Given the description of an element on the screen output the (x, y) to click on. 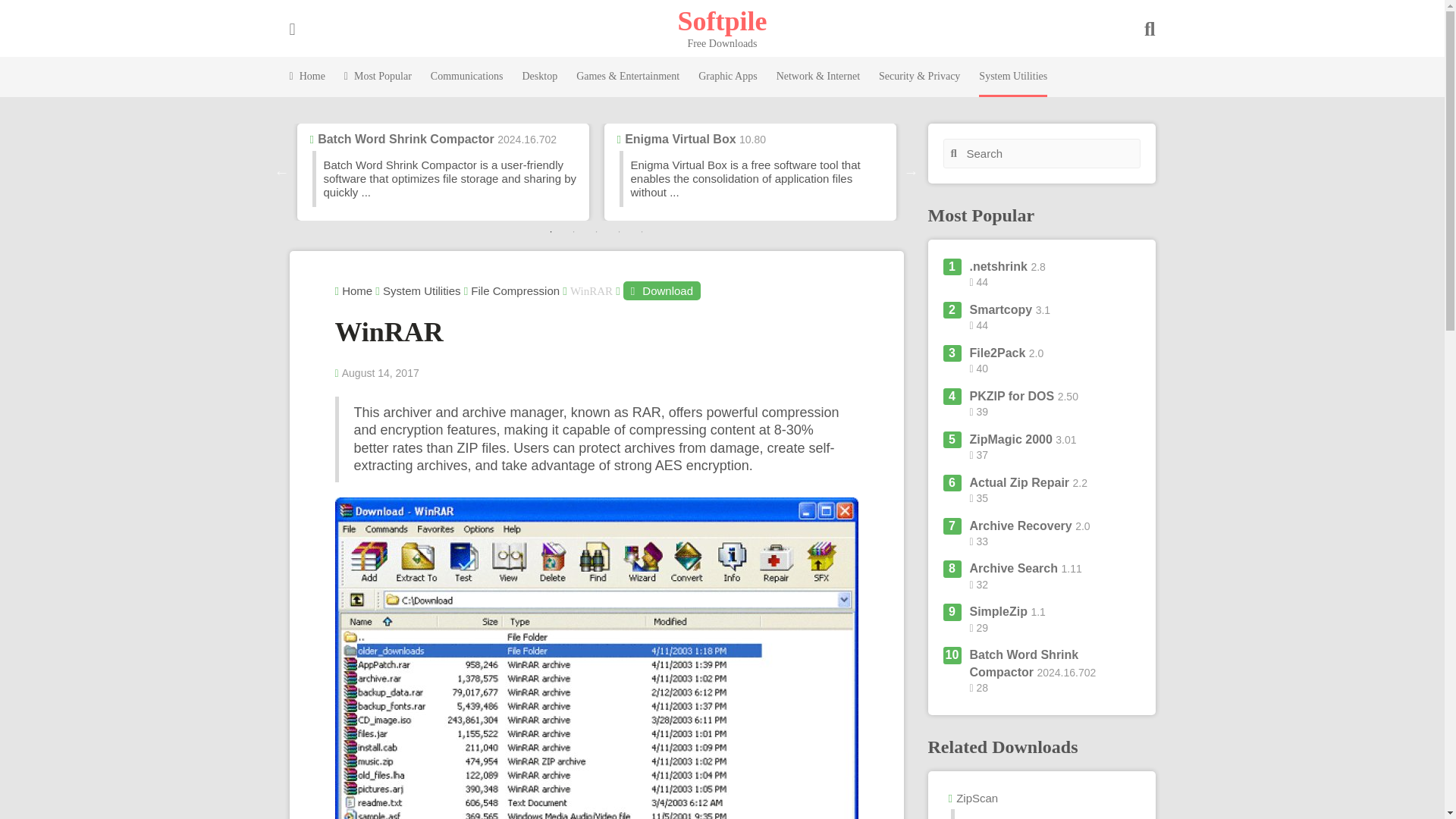
Graphic Apps (727, 76)
Download WinRAR 5.50 (661, 290)
Softpile (722, 20)
Free Downloads (722, 20)
Most Popular (377, 76)
PREVIOUS (282, 171)
Batch Word Shrink Compactor (406, 138)
Desktop (539, 76)
Home (306, 76)
Communications (466, 76)
System Utilities (1012, 76)
Enigma Virtual Box (679, 138)
